Given the description of an element on the screen output the (x, y) to click on. 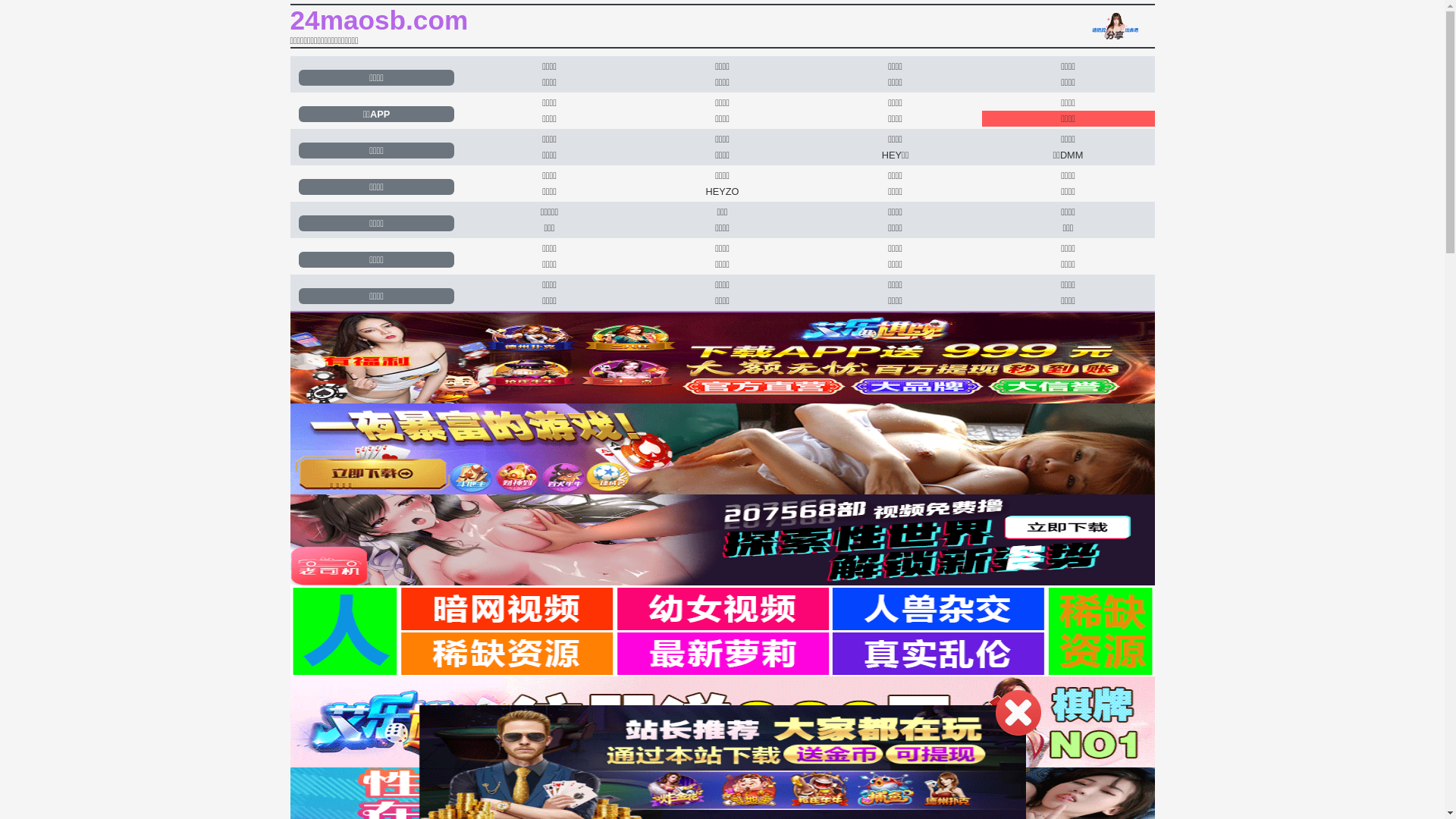
HEYZO Element type: text (722, 191)
